Given the description of an element on the screen output the (x, y) to click on. 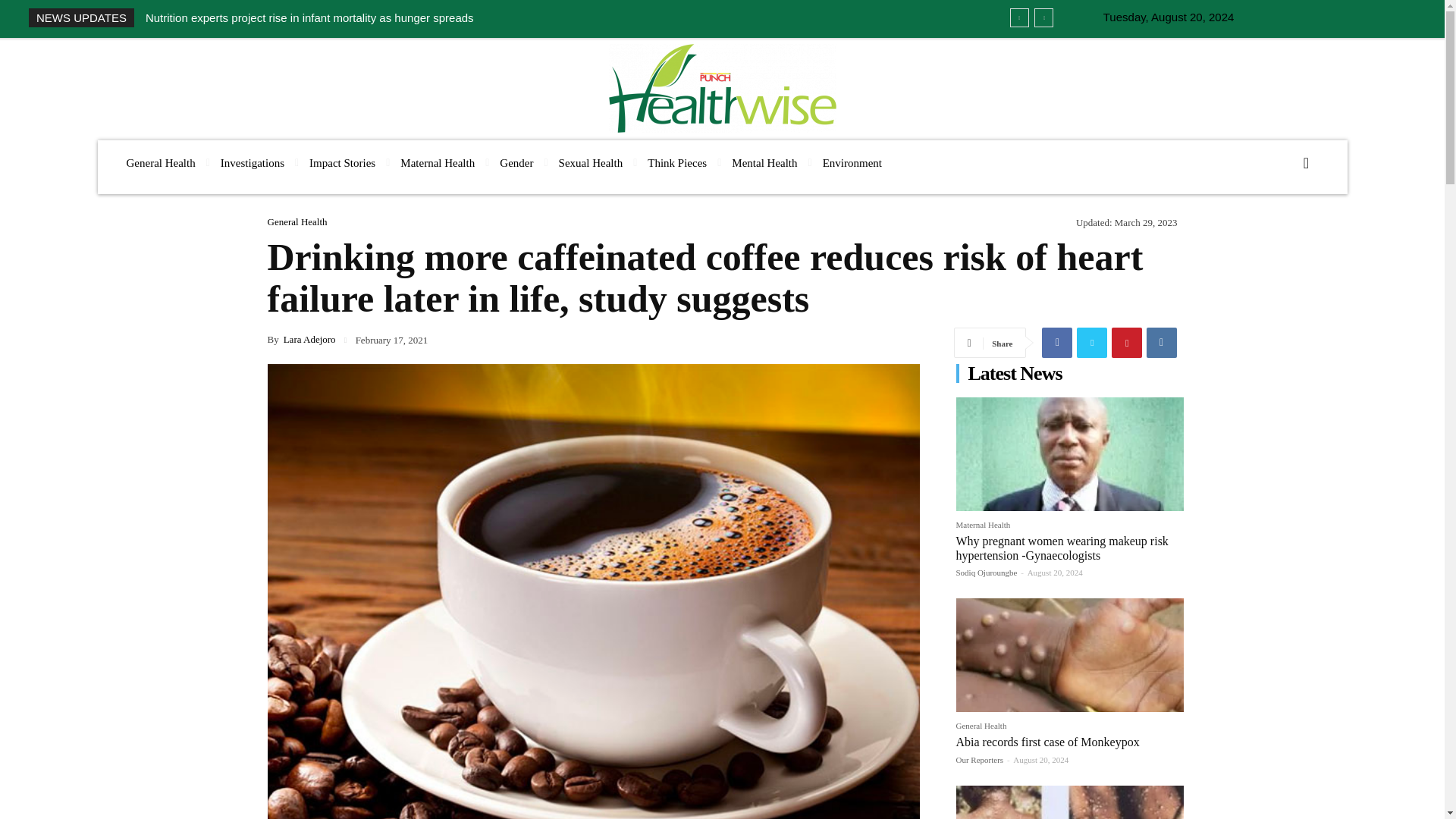
Investigations (252, 163)
General Health (160, 163)
